Given the description of an element on the screen output the (x, y) to click on. 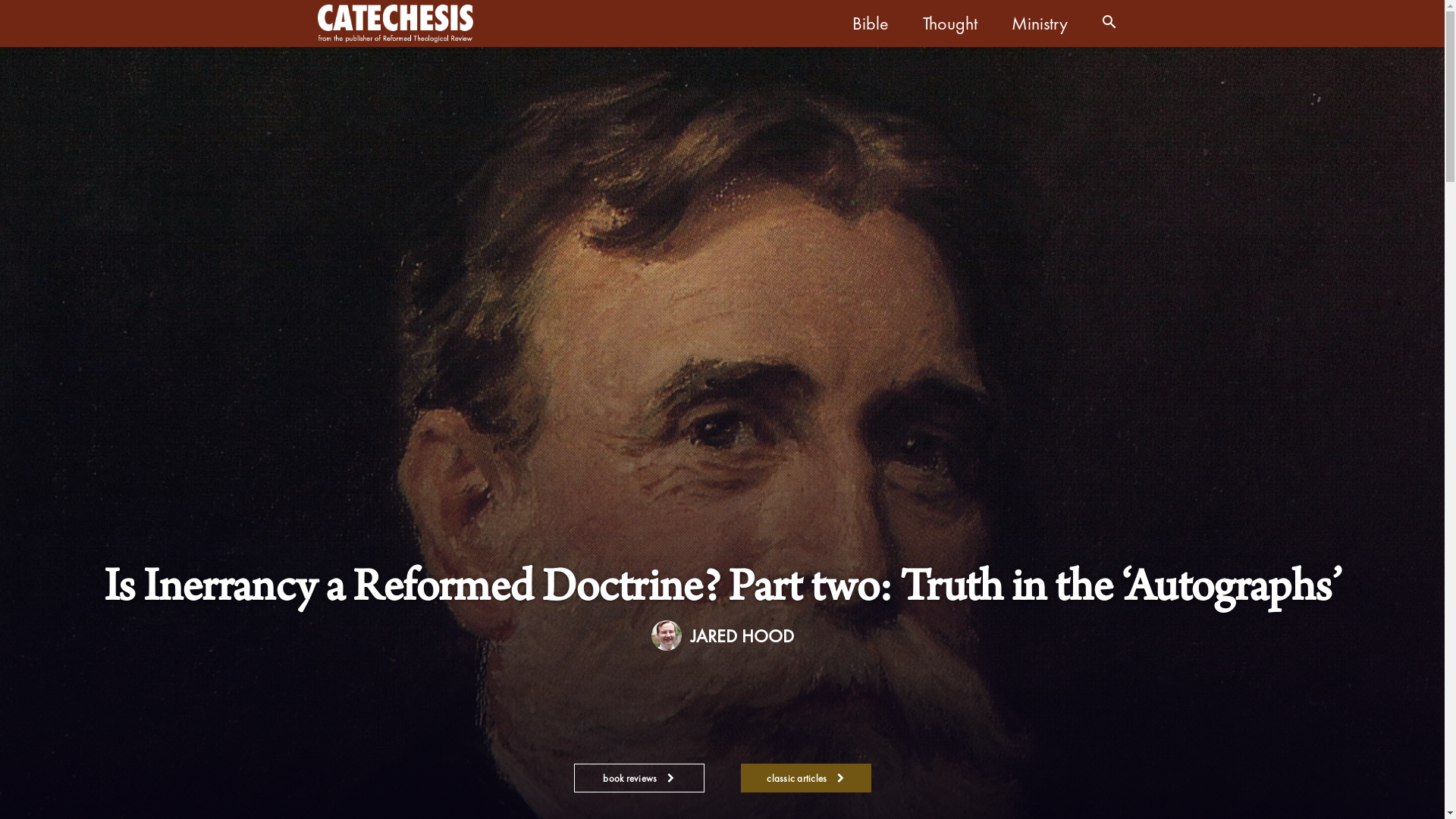
Ministry Element type: text (1046, 23)
Bible Element type: text (876, 23)
Catechesis Element type: text (394, 22)
classic articles Element type: text (805, 777)
Search Element type: text (1086, 89)
Thought Element type: text (955, 23)
JARED HOOD Element type: text (741, 635)
book reviews Element type: text (638, 777)
